Given the description of an element on the screen output the (x, y) to click on. 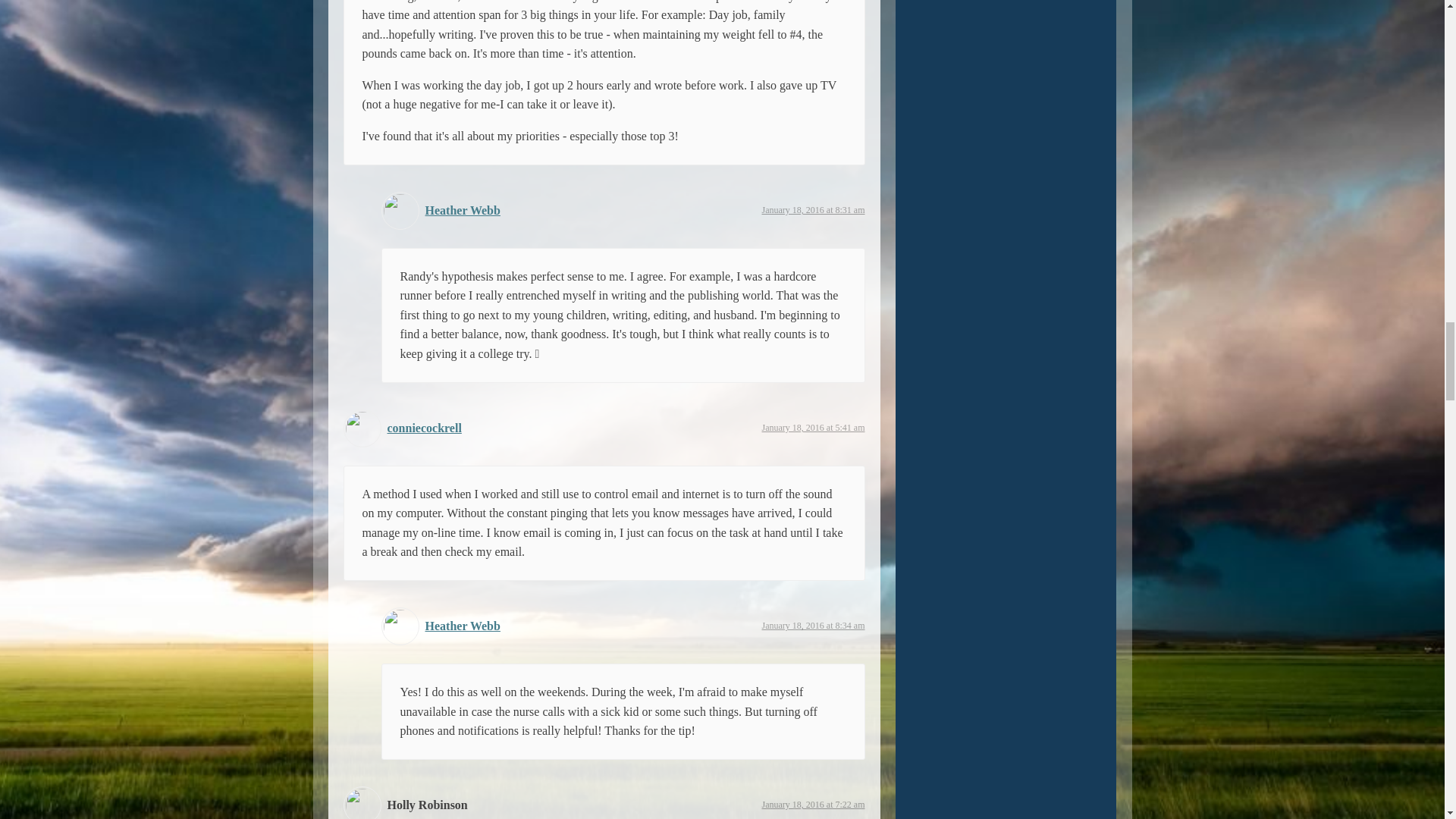
January 18, 2016 at 7:22 am (812, 804)
January 18, 2016 at 8:34 am (812, 624)
January 18, 2016 at 5:41 am (812, 427)
Heather Webb (462, 625)
conniecockrell (424, 427)
Heather Webb (462, 210)
January 18, 2016 at 8:31 am (812, 209)
